Given the description of an element on the screen output the (x, y) to click on. 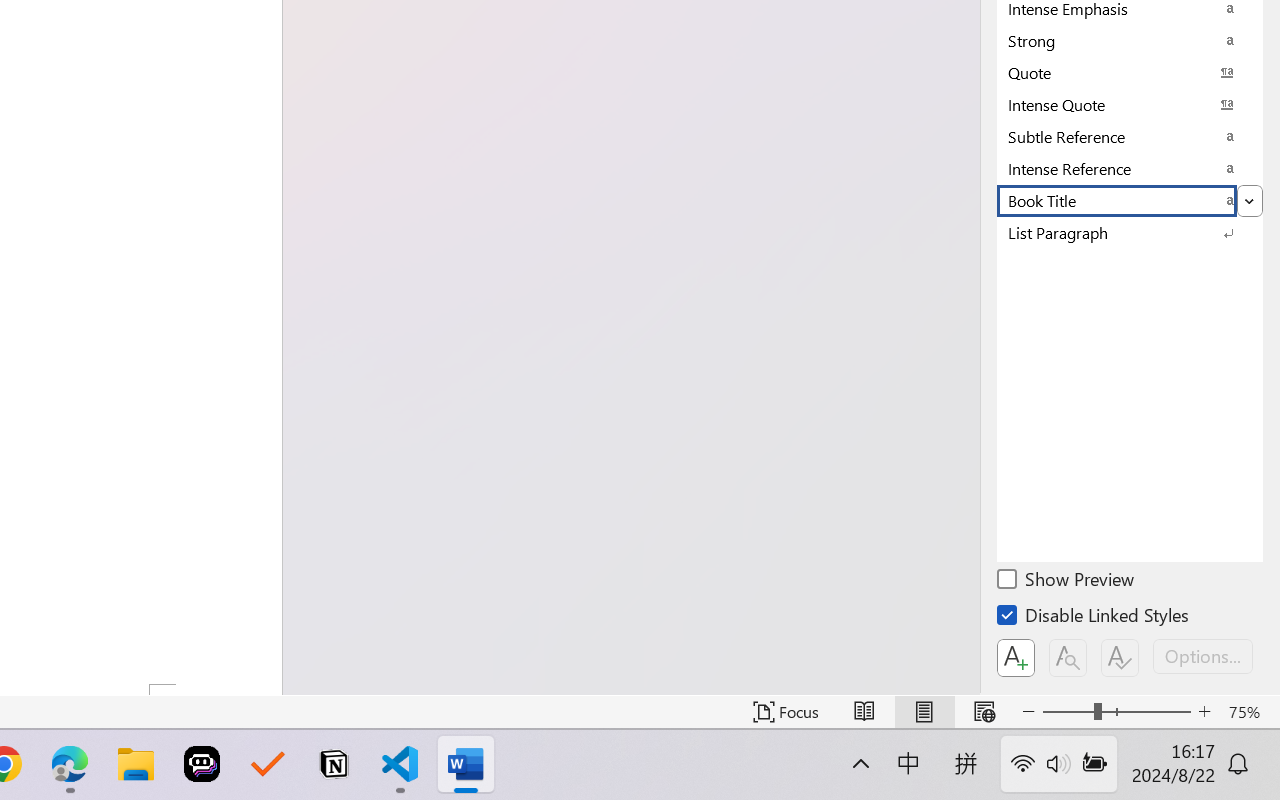
Quote (1130, 72)
Show Preview (1067, 582)
Class: NetUIButton (1119, 657)
Intense Reference (1130, 168)
Zoom 75% (1249, 712)
Disable Linked Styles (1094, 618)
Strong (1130, 40)
Book Title (1130, 200)
Subtle Reference (1130, 136)
List Paragraph (1130, 232)
